Given the description of an element on the screen output the (x, y) to click on. 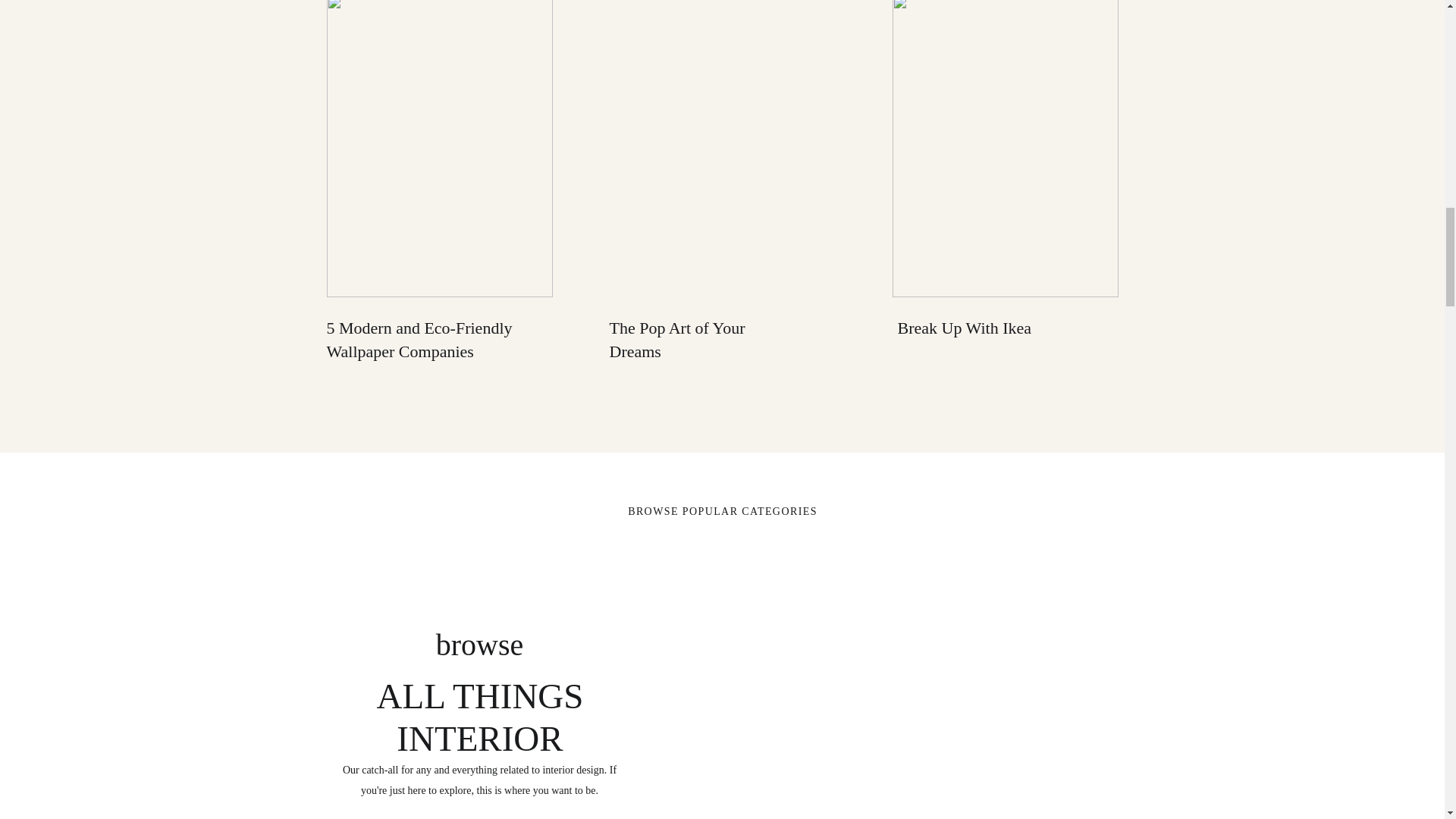
5 Modern and Eco-Friendly Wallpaper Companies (419, 339)
The Pop Art of Your Dreams (677, 339)
Break Up With Ikea (964, 327)
